Given the description of an element on the screen output the (x, y) to click on. 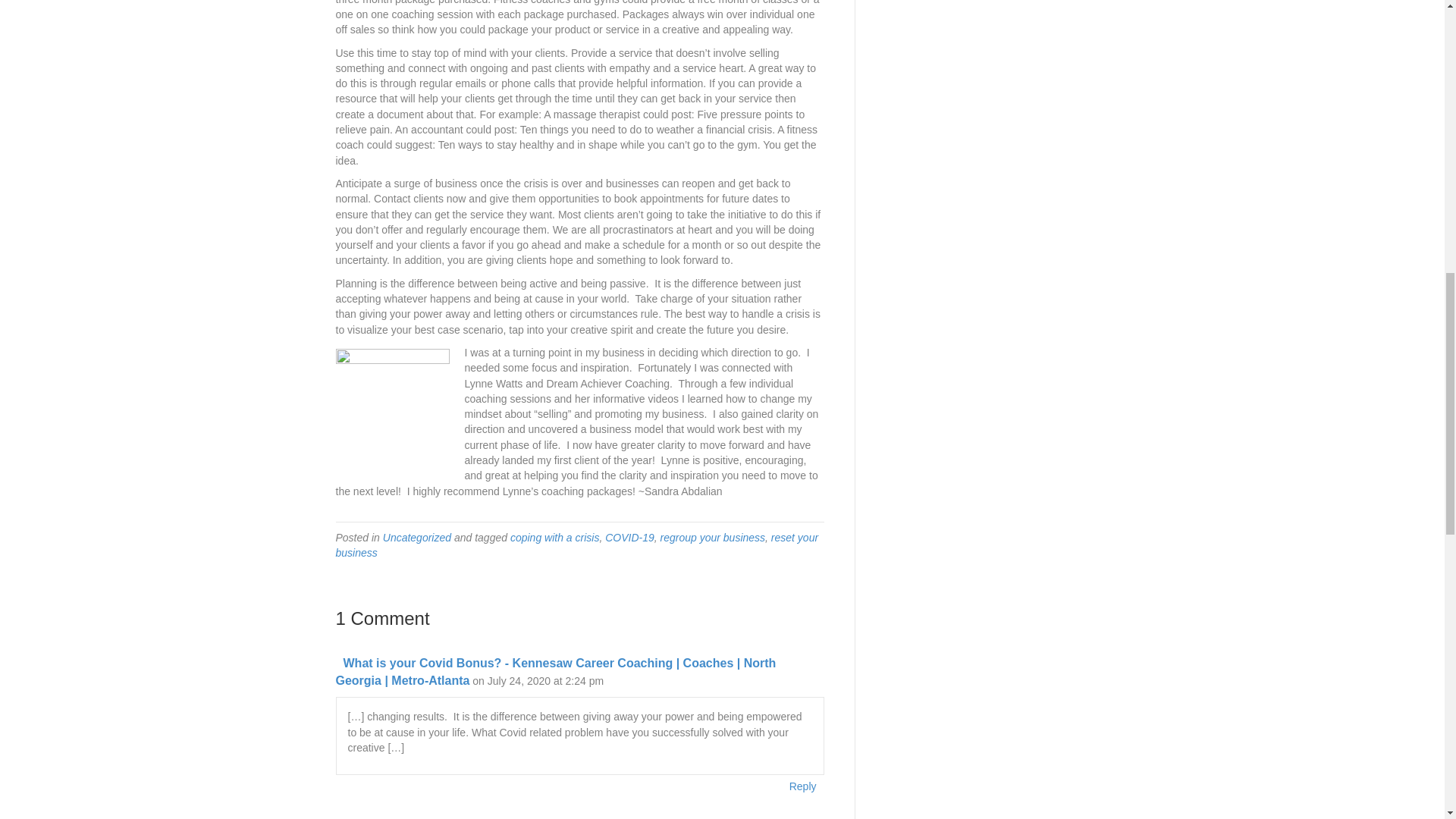
Reply (803, 786)
coping with a crisis (555, 537)
reset your business (576, 544)
regroup your business (713, 537)
COVID-19 (629, 537)
Uncategorized (416, 537)
